Given the description of an element on the screen output the (x, y) to click on. 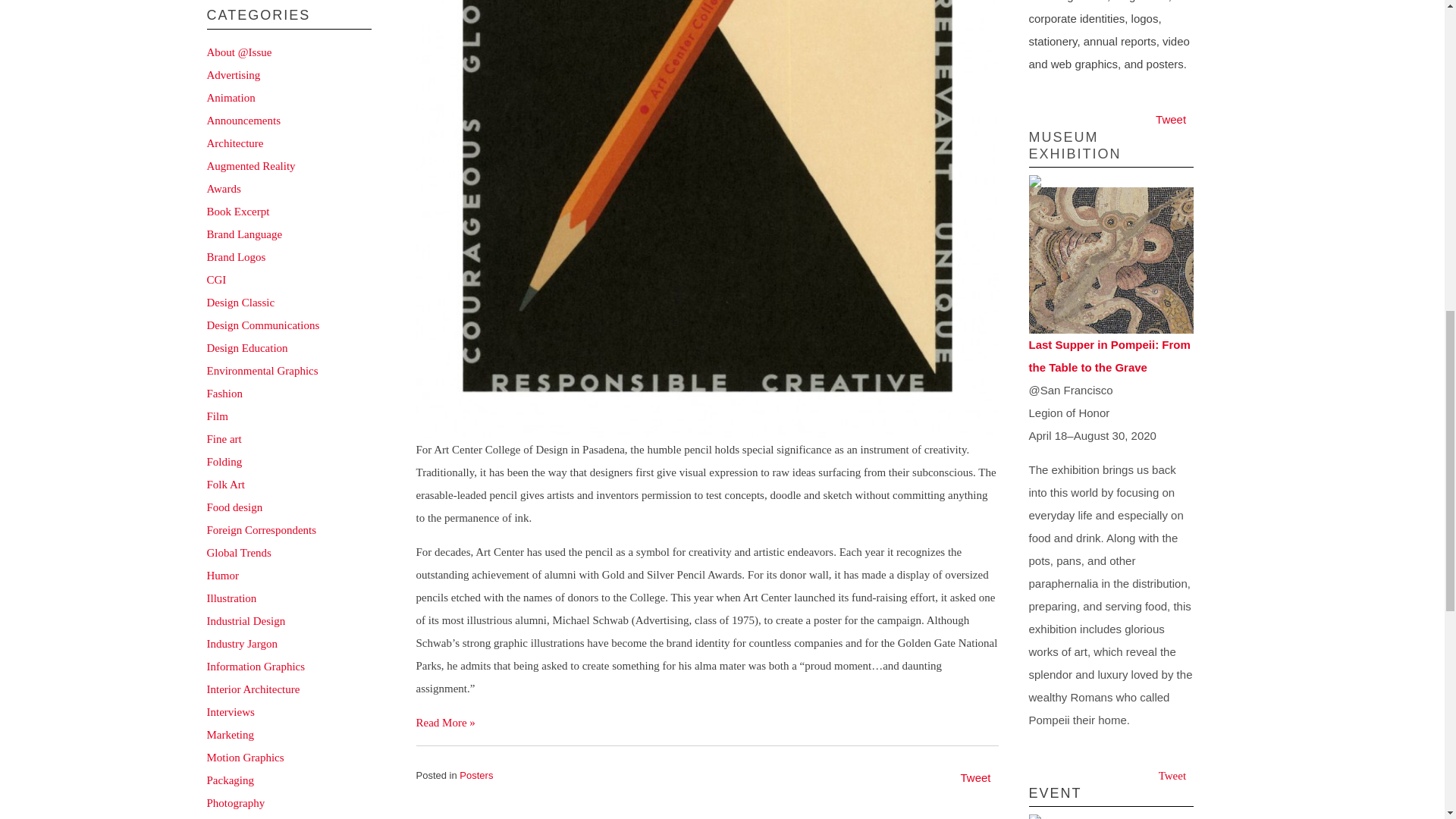
Animation (230, 96)
Food design (234, 506)
Folk Art (225, 483)
Design Education (246, 346)
Humor (222, 574)
Announcements (242, 119)
Interviews (229, 711)
Foreign Correspondents (260, 529)
Fashion (224, 392)
Illustration (231, 597)
Film (216, 415)
CGI (215, 278)
Industry Jargon (241, 643)
Advertising (233, 73)
Book Excerpt (237, 210)
